Given the description of an element on the screen output the (x, y) to click on. 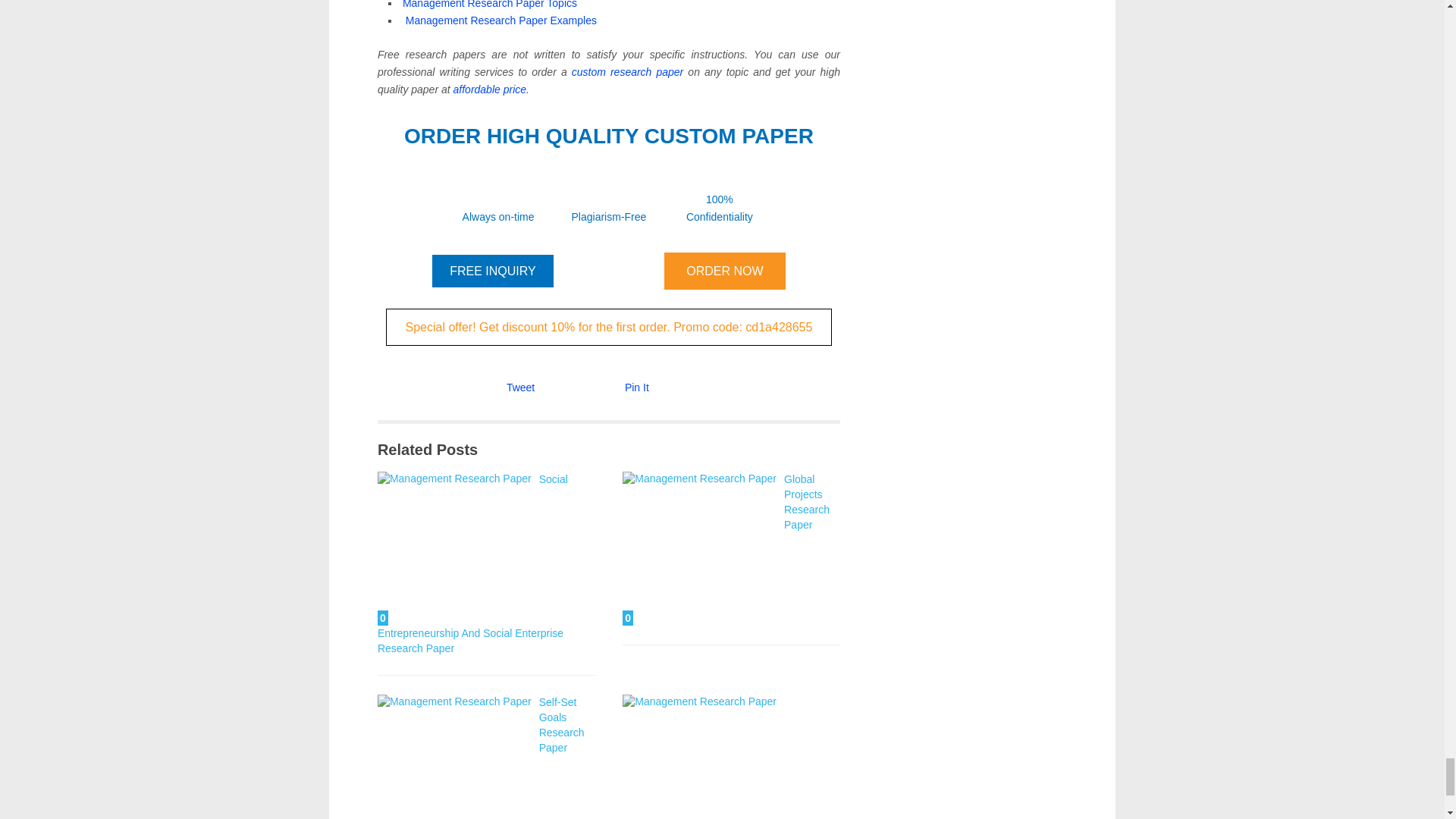
Self-Set Goals Research Paper (454, 756)
Global Projects Research Paper (699, 548)
FREE INQUIRY (492, 270)
0 (699, 756)
Management Research Paper Topics (489, 4)
ORDER NOW (724, 270)
Tweet (520, 387)
Management Research Paper Examples (501, 20)
0 (454, 756)
Social Entrepreneurship And Social Enterprise Research Paper (454, 548)
